Given the description of an element on the screen output the (x, y) to click on. 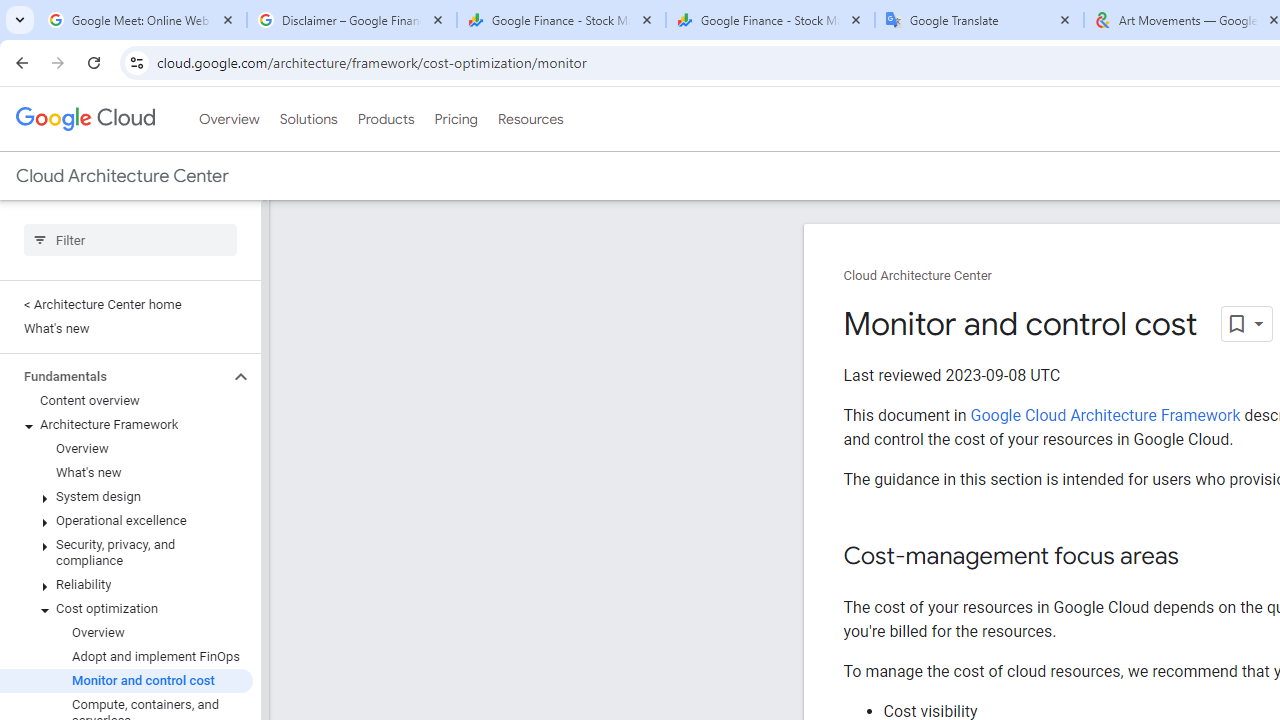
Security, privacy, and compliance (126, 552)
System design (126, 497)
Pricing (455, 119)
Monitor and control cost (126, 680)
Google Translate (979, 20)
Google Cloud Architecture Framework (1105, 415)
Cost optimization (126, 608)
Solutions (308, 119)
What's new (126, 472)
Products (385, 119)
Open dropdown (1246, 324)
